Given the description of an element on the screen output the (x, y) to click on. 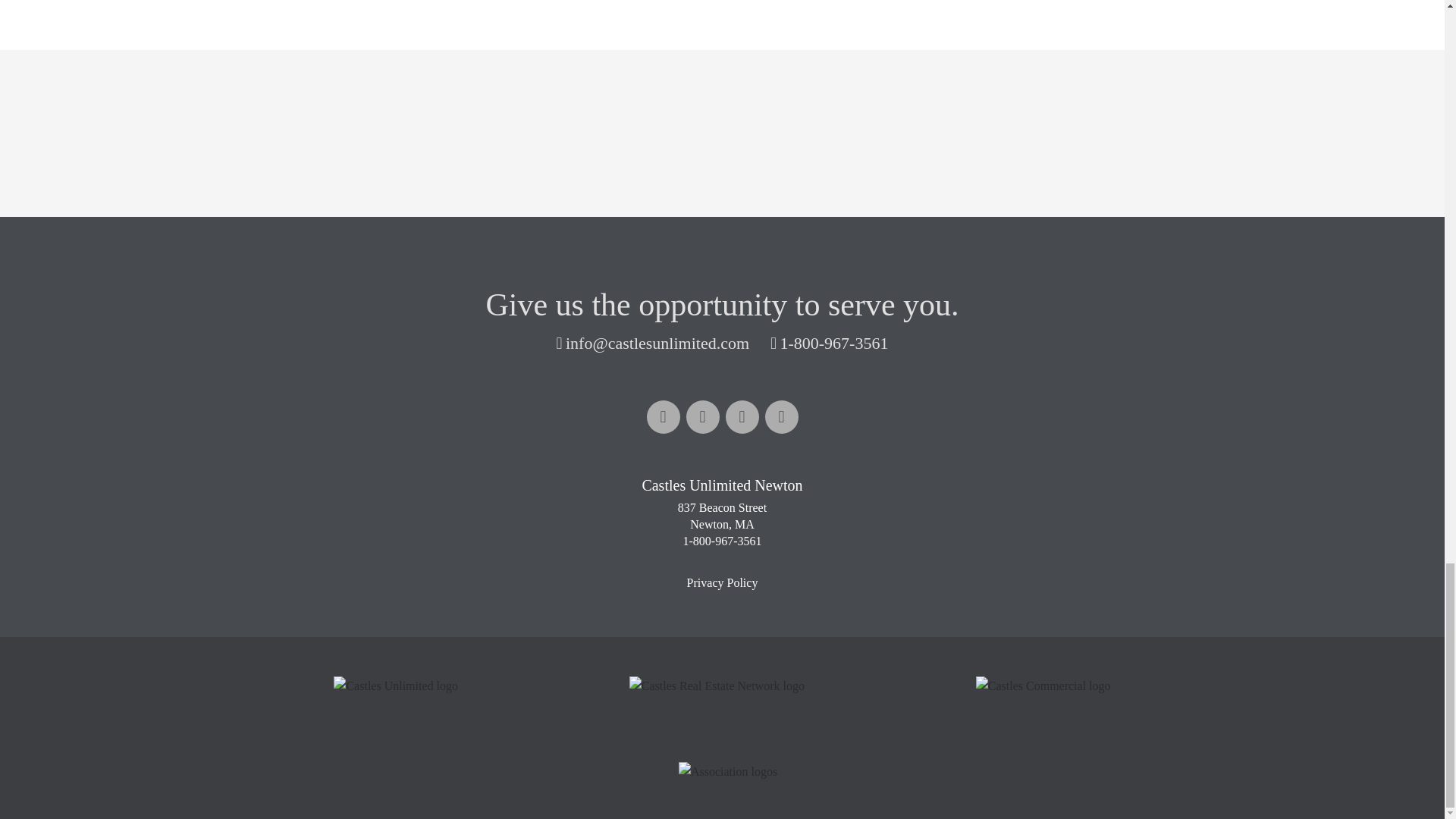
Association logos (727, 771)
Twitter (741, 417)
Facebook (662, 417)
Linkedin (702, 417)
Instagram (780, 417)
